Given the description of an element on the screen output the (x, y) to click on. 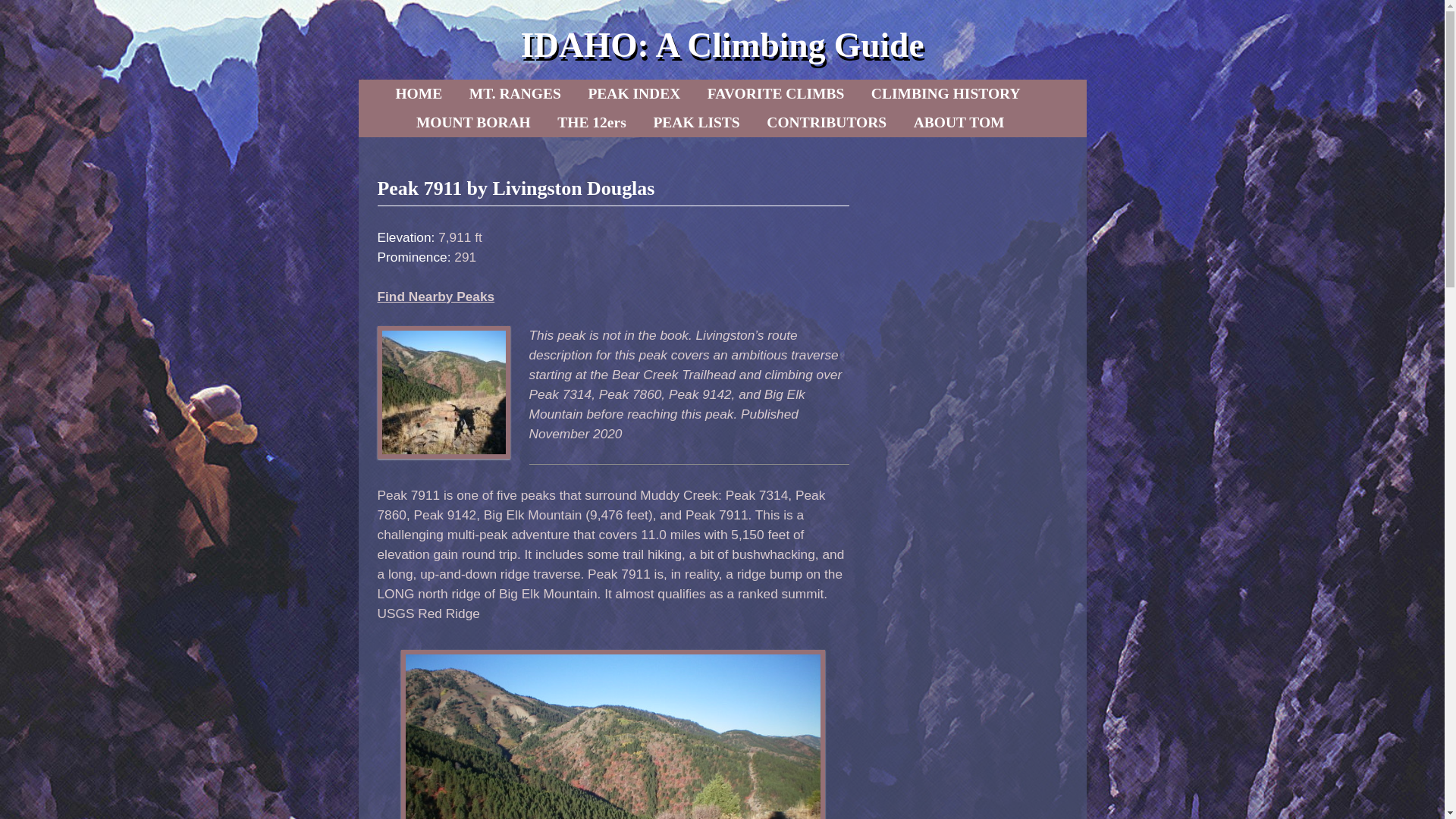
Skip to primary content (457, 93)
PEAK INDEX (633, 93)
IDAHO: A Climbing Guide (721, 44)
PEAK LISTS (695, 122)
HOME (418, 93)
Skip to secondary content (463, 93)
MOUNT BORAH (473, 122)
CLIMBING HISTORY (945, 93)
THE 12ers (591, 122)
FAVORITE CLIMBS (775, 93)
Find Nearby Peaks (436, 296)
MT. RANGES (515, 93)
IDAHO: A Climbing Guide (721, 44)
CONTRIBUTORS (825, 122)
ABOUT TOM (958, 122)
